Given the description of an element on the screen output the (x, y) to click on. 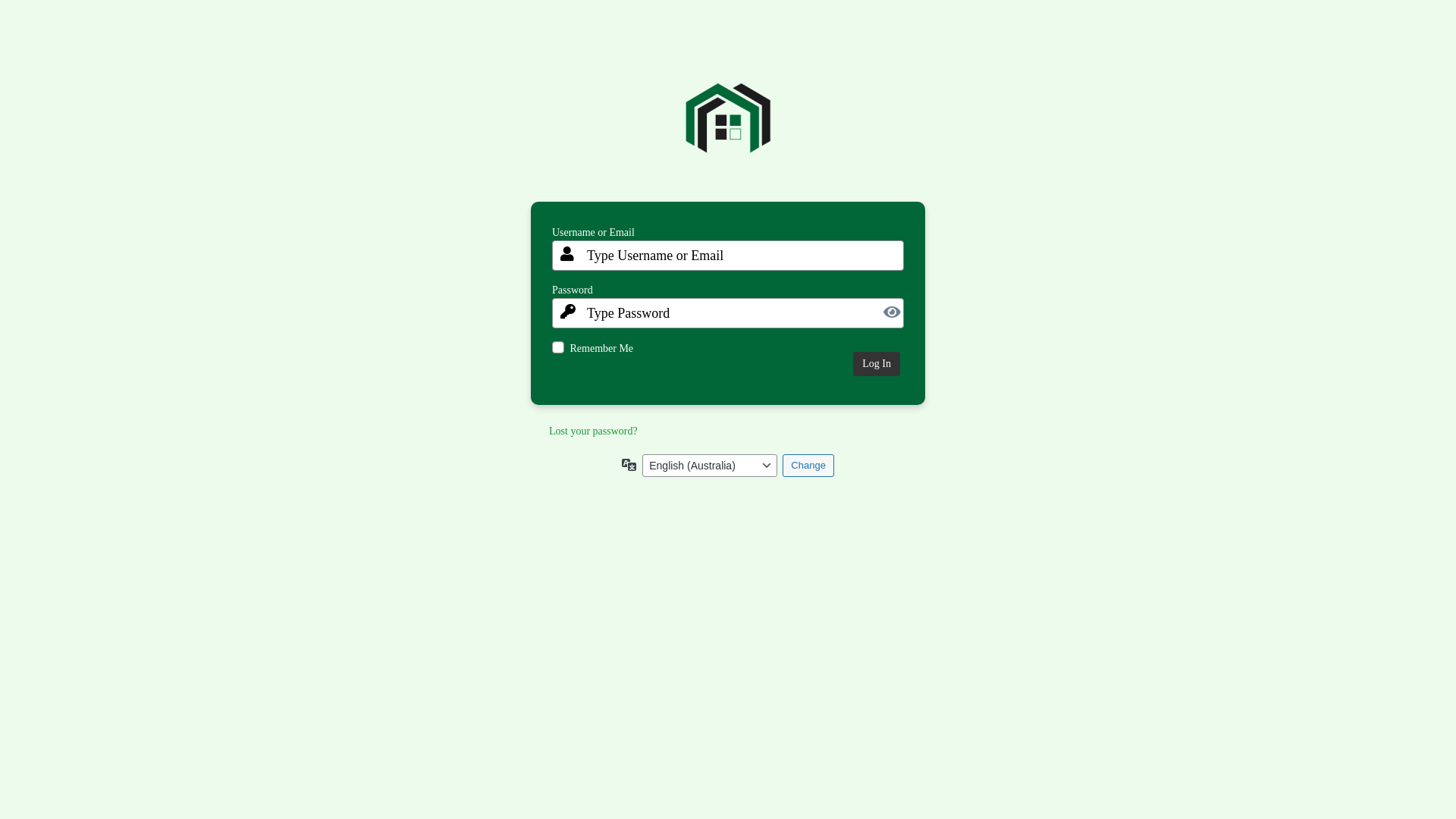
Lost your password? Element type: text (593, 430)
Log In Element type: text (876, 363)
Backbone BMS Portal for DGC Holdings Element type: text (727, 129)
Change Element type: text (808, 465)
